Given the description of an element on the screen output the (x, y) to click on. 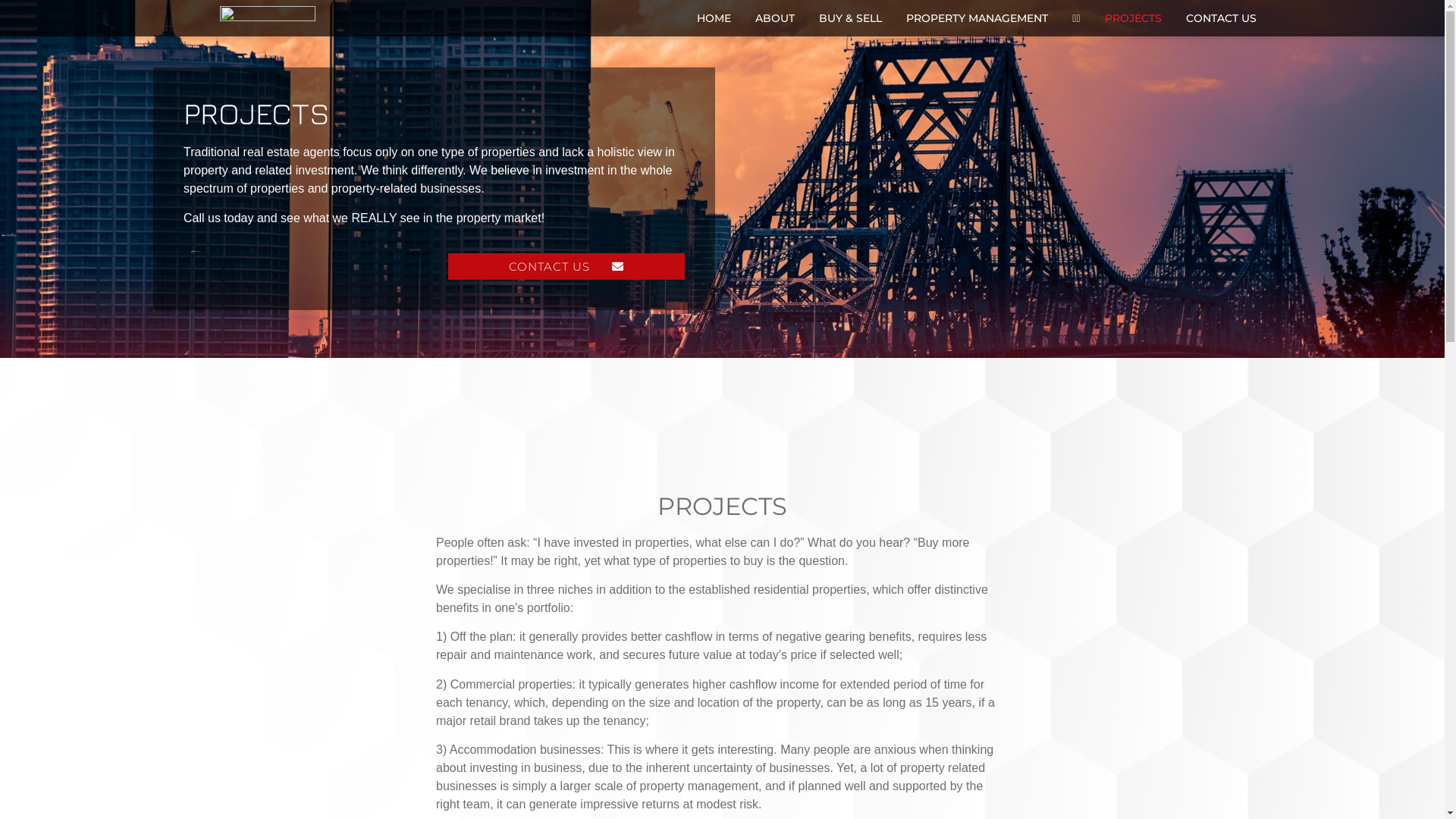
ABOUT Element type: text (774, 17)
BUY & SELL Element type: text (850, 17)
CONTACT US Element type: text (1220, 17)
CONTACT US Element type: text (566, 266)
PROPERTY MANAGEMENT Element type: text (977, 17)
HOME Element type: text (713, 17)
PROJECTS Element type: text (1132, 17)
